Given the description of an element on the screen output the (x, y) to click on. 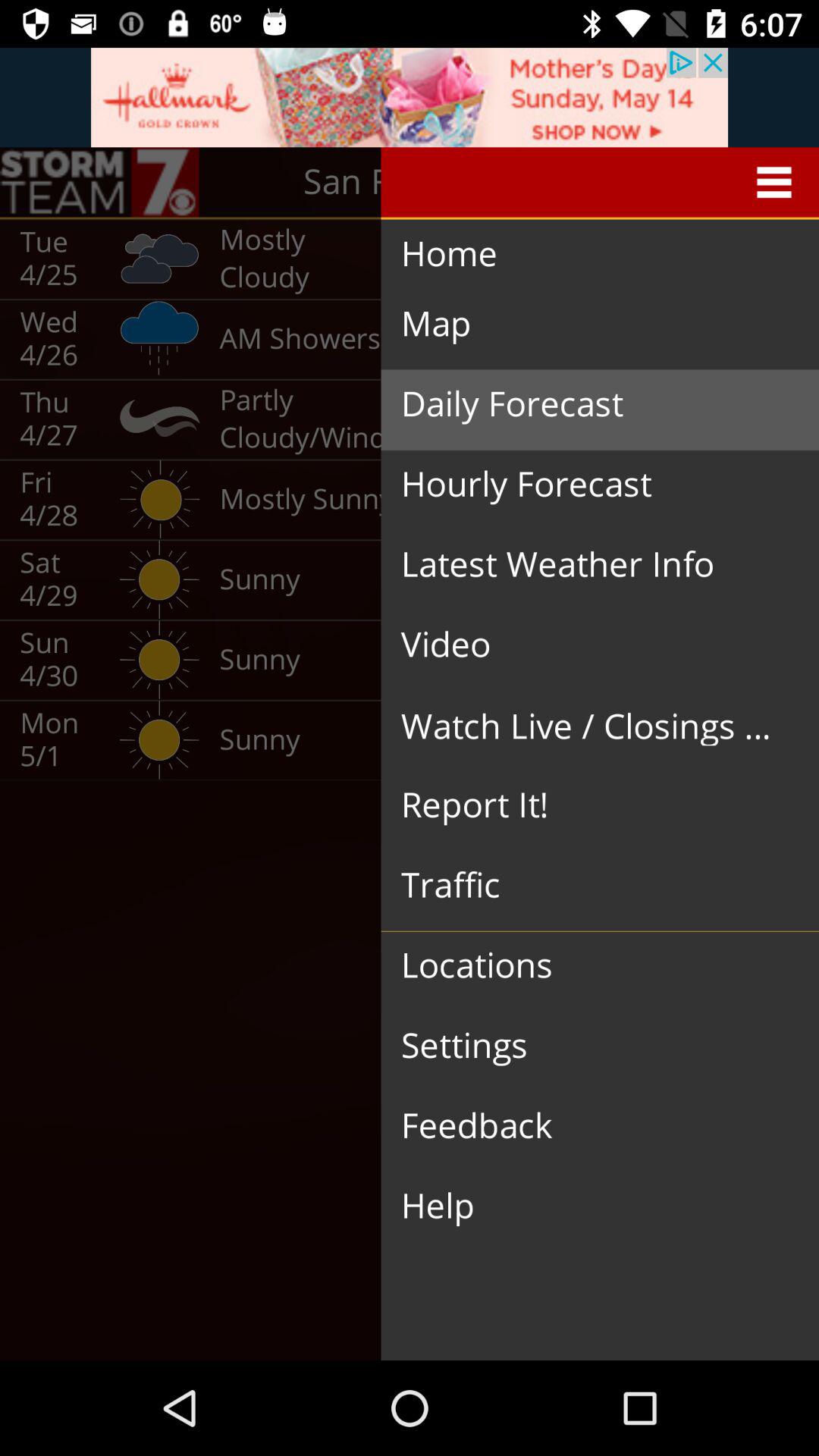
press the item to the right of the sunny (587, 645)
